Given the description of an element on the screen output the (x, y) to click on. 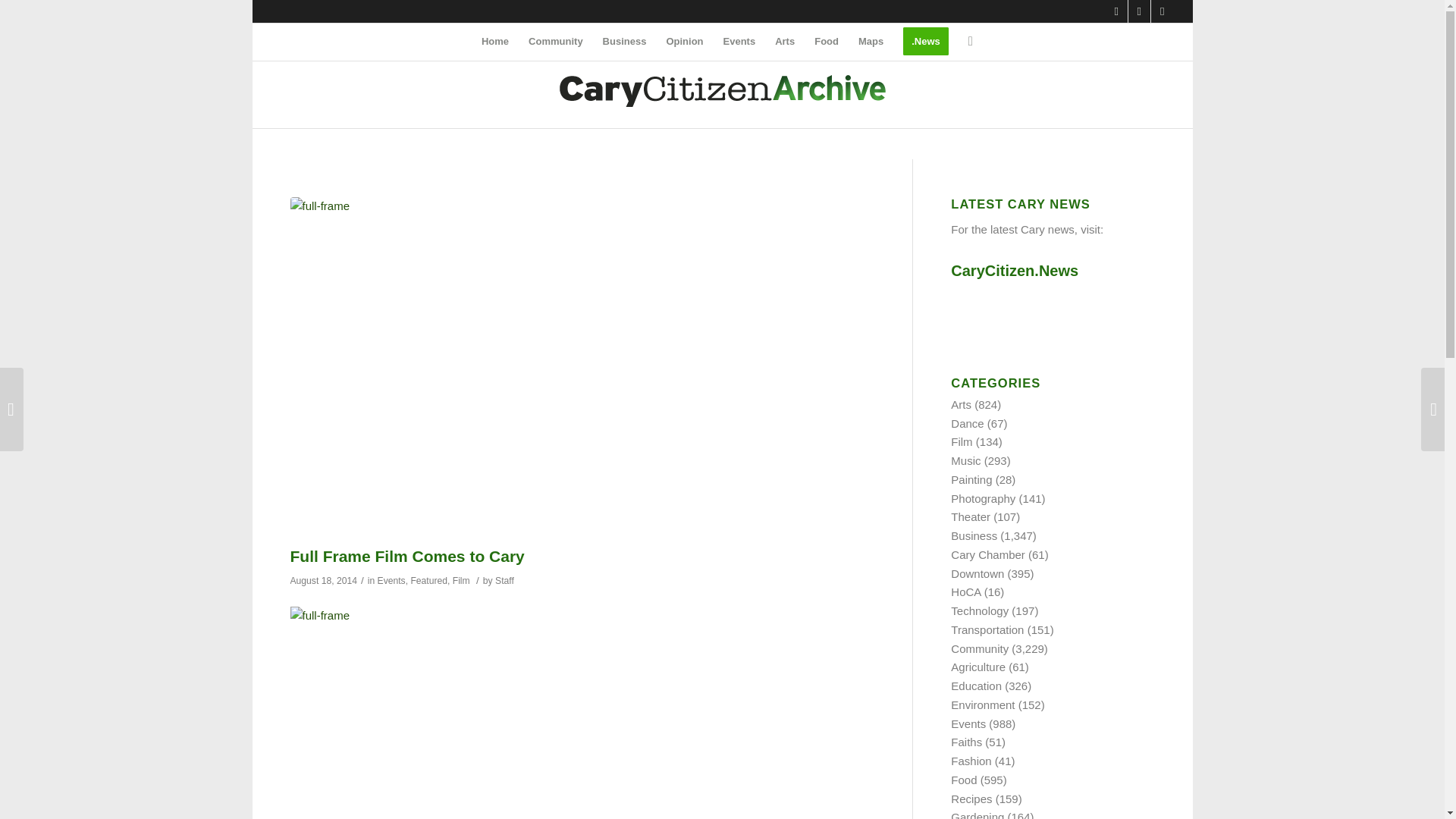
Permanent Link: Full Frame Film Comes to Cary (406, 556)
Business (624, 41)
Events (391, 580)
Events (739, 41)
Home (494, 41)
Community (555, 41)
Full Frame Film Comes to Cary (406, 556)
Featured (428, 580)
Staff (504, 580)
Posts by Staff (504, 580)
Film (461, 580)
Maps (870, 41)
Food (826, 41)
Arts (785, 41)
